Given the description of an element on the screen output the (x, y) to click on. 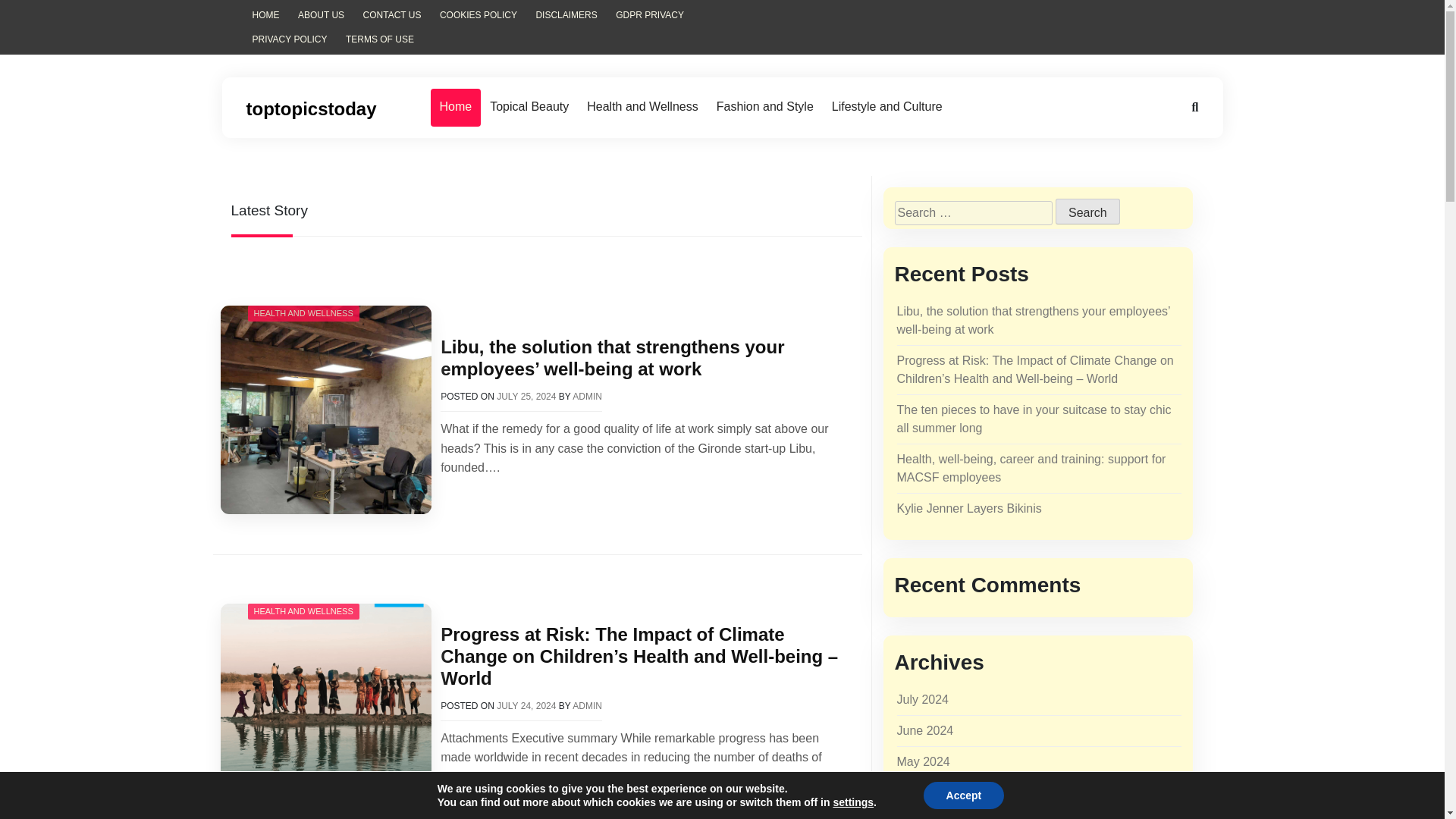
GDPR PRIVACY (649, 15)
HOME (265, 15)
DISCLAIMERS (565, 15)
PRIVACY POLICY (289, 39)
HEALTH AND WELLNESS (302, 611)
toptopicstoday (310, 108)
JULY 24, 2024 (526, 706)
ABOUT US (320, 15)
ADMIN (587, 706)
Fashion and Style (764, 107)
ADMIN (587, 396)
HEALTH AND WELLNESS (302, 313)
Home (455, 107)
Lifestyle and Culture (887, 107)
TERMS OF USE (379, 39)
